Given the description of an element on the screen output the (x, y) to click on. 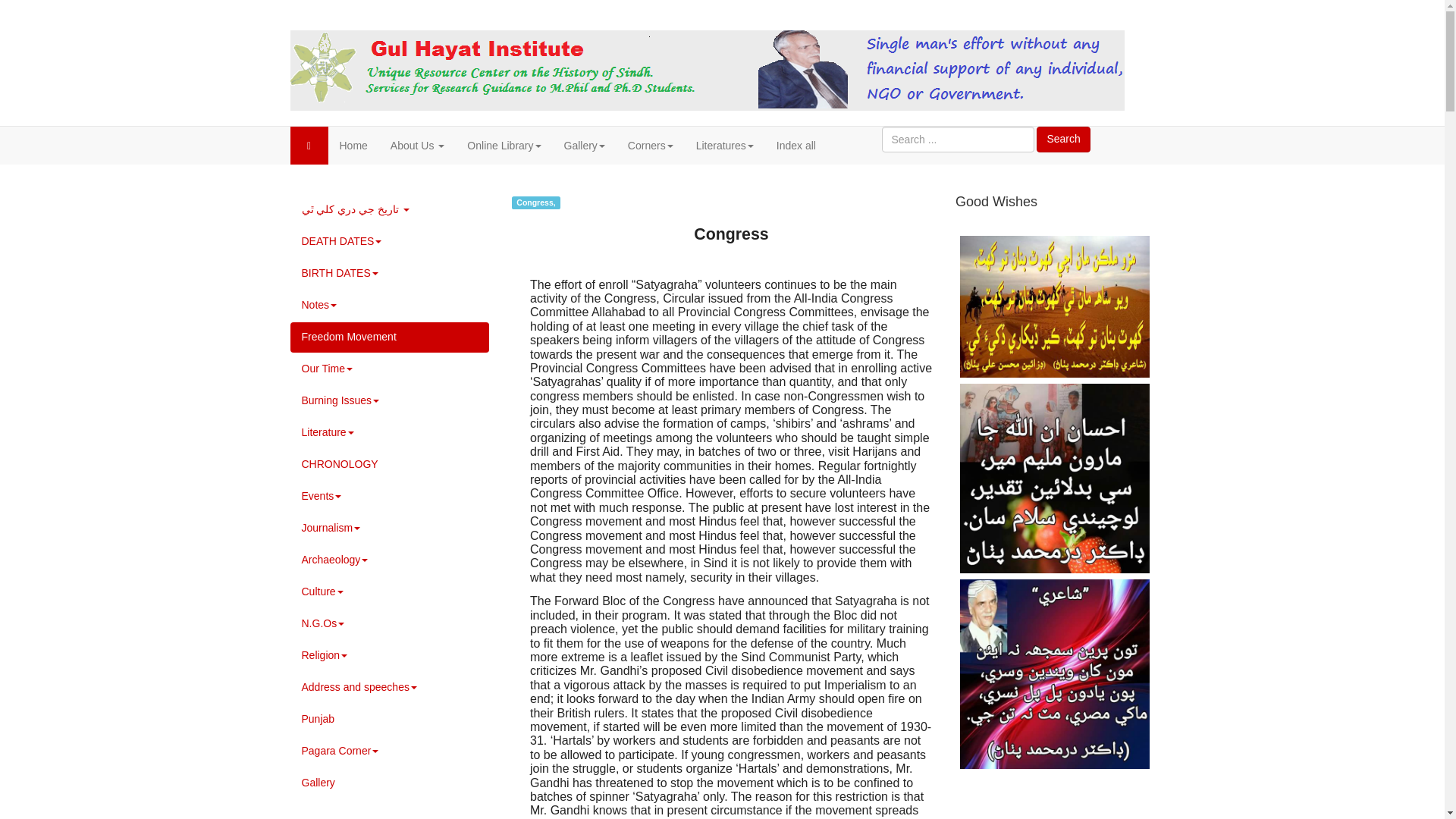
FB IMG 1489910232334 (1054, 305)
FB IMG 1489910331633 (1054, 673)
Dr. Pathan (706, 70)
FB IMG 1489910343939 (1054, 477)
